Given the description of an element on the screen output the (x, y) to click on. 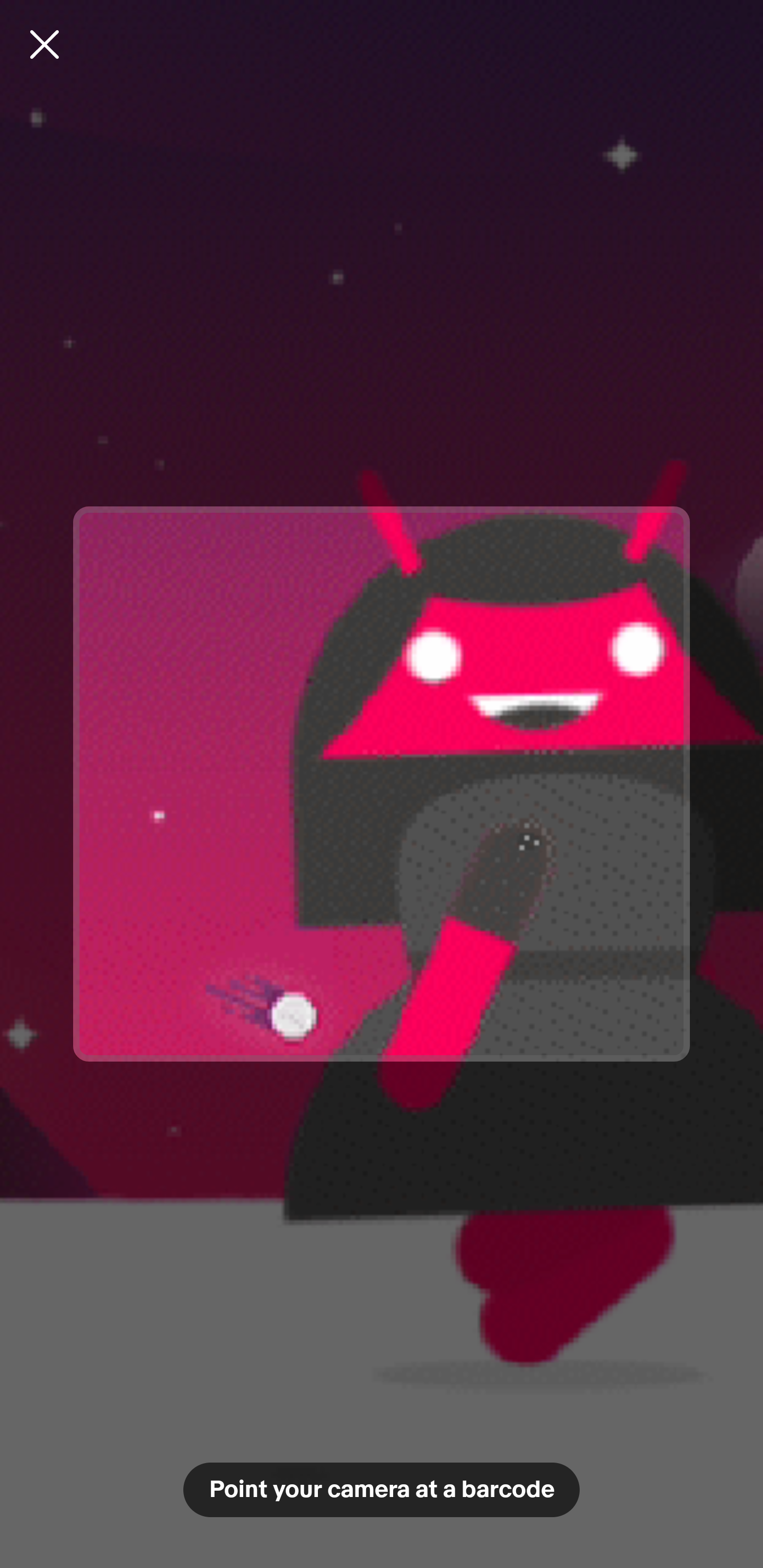
Close (44, 44)
